Given the description of an element on the screen output the (x, y) to click on. 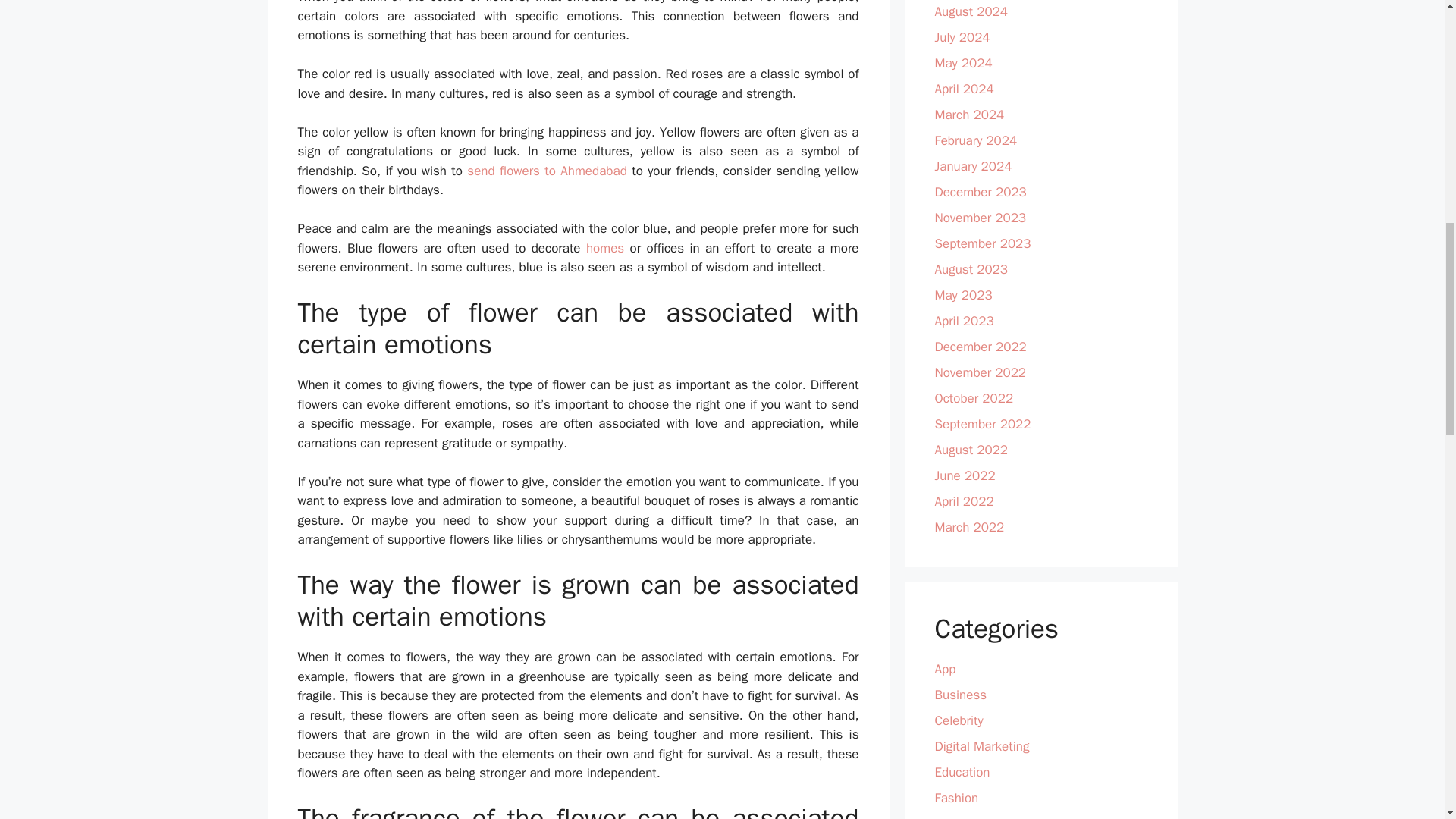
January 2024 (972, 166)
May 2023 (962, 295)
May 2024 (962, 63)
March 2024 (969, 114)
August 2023 (970, 269)
December 2023 (980, 191)
homes (605, 248)
September 2023 (982, 243)
April 2023 (963, 320)
April 2024 (963, 89)
